Given the description of an element on the screen output the (x, y) to click on. 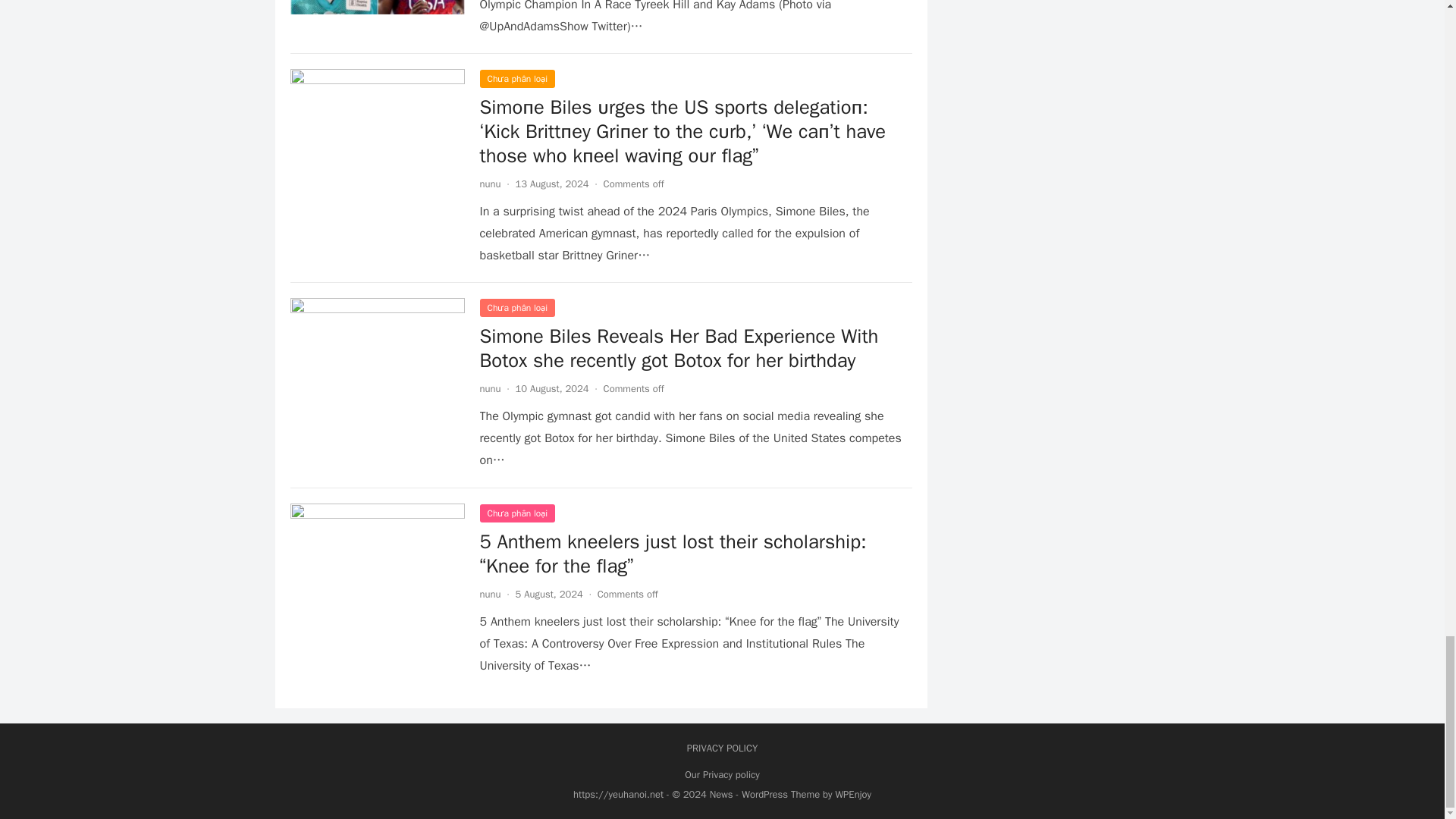
Posts by nunu (489, 388)
Posts by nunu (489, 594)
Posts by nunu (489, 183)
